Given the description of an element on the screen output the (x, y) to click on. 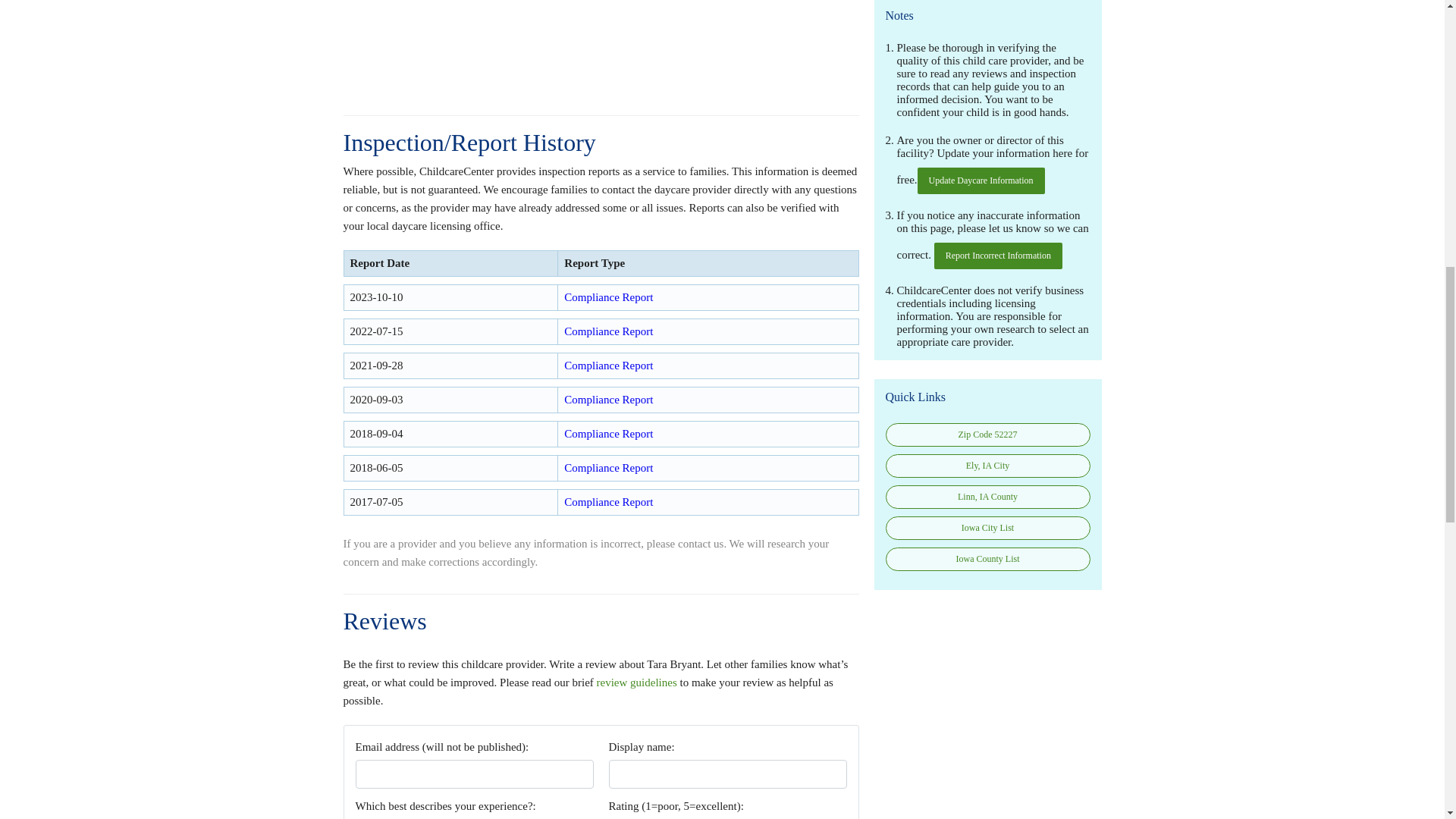
Compliance Report (608, 331)
Ely, IA City (987, 465)
Compliance Report (608, 467)
Compliance Report (608, 297)
Compliance Report (608, 433)
Compliance Report (608, 501)
Compliance Report (608, 365)
Zip Code 52227 (987, 434)
Linn, IA County (987, 496)
Compliance Report (608, 399)
